Given the description of an element on the screen output the (x, y) to click on. 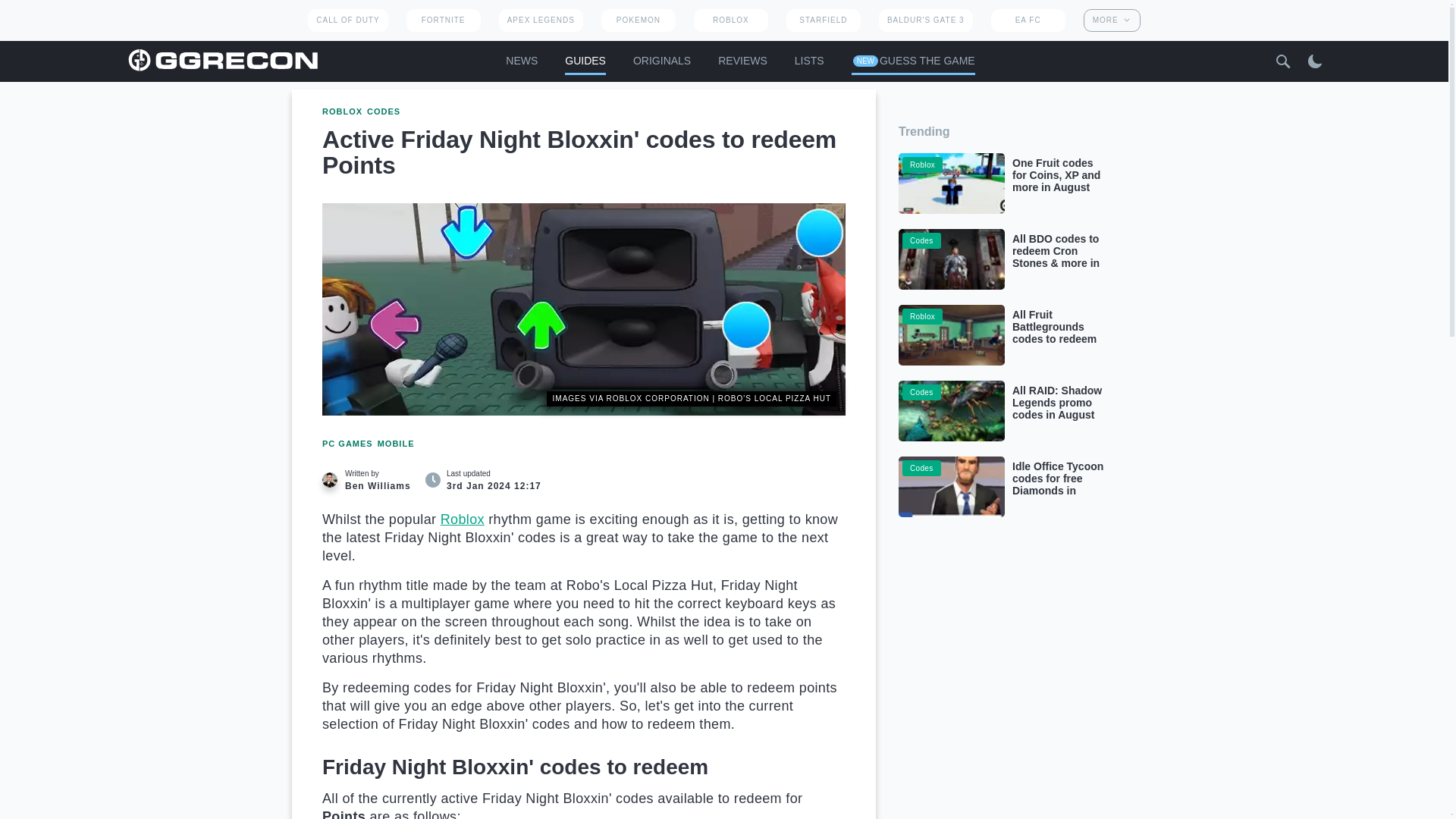
POKEMON (638, 20)
ROBLOX (731, 20)
Ben Williams (329, 479)
APEX LEGENDS (541, 20)
STARFIELD (823, 20)
authorlink (369, 479)
CALL OF DUTY (347, 20)
FORTNITE (443, 20)
MORE (1111, 20)
Active Friday Night Bloxxin' codes to redeem Points (583, 309)
